Given the description of an element on the screen output the (x, y) to click on. 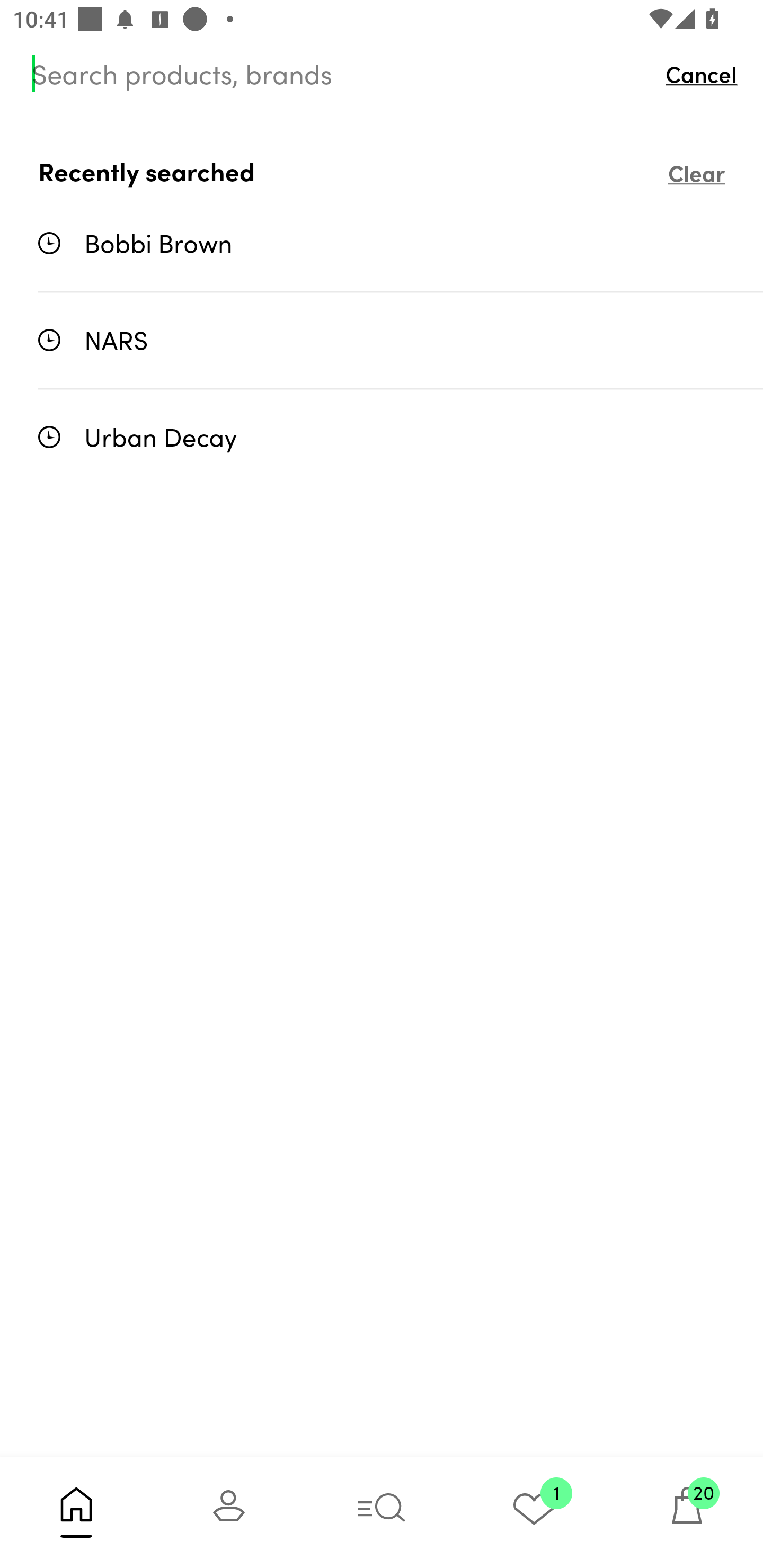
Cancel (706, 72)
Search products, brands (340, 72)
Clear (696, 171)
Bobbi Brown (400, 243)
NARS (400, 339)
Urban Decay (400, 436)
1 (533, 1512)
20 (686, 1512)
